Given the description of an element on the screen output the (x, y) to click on. 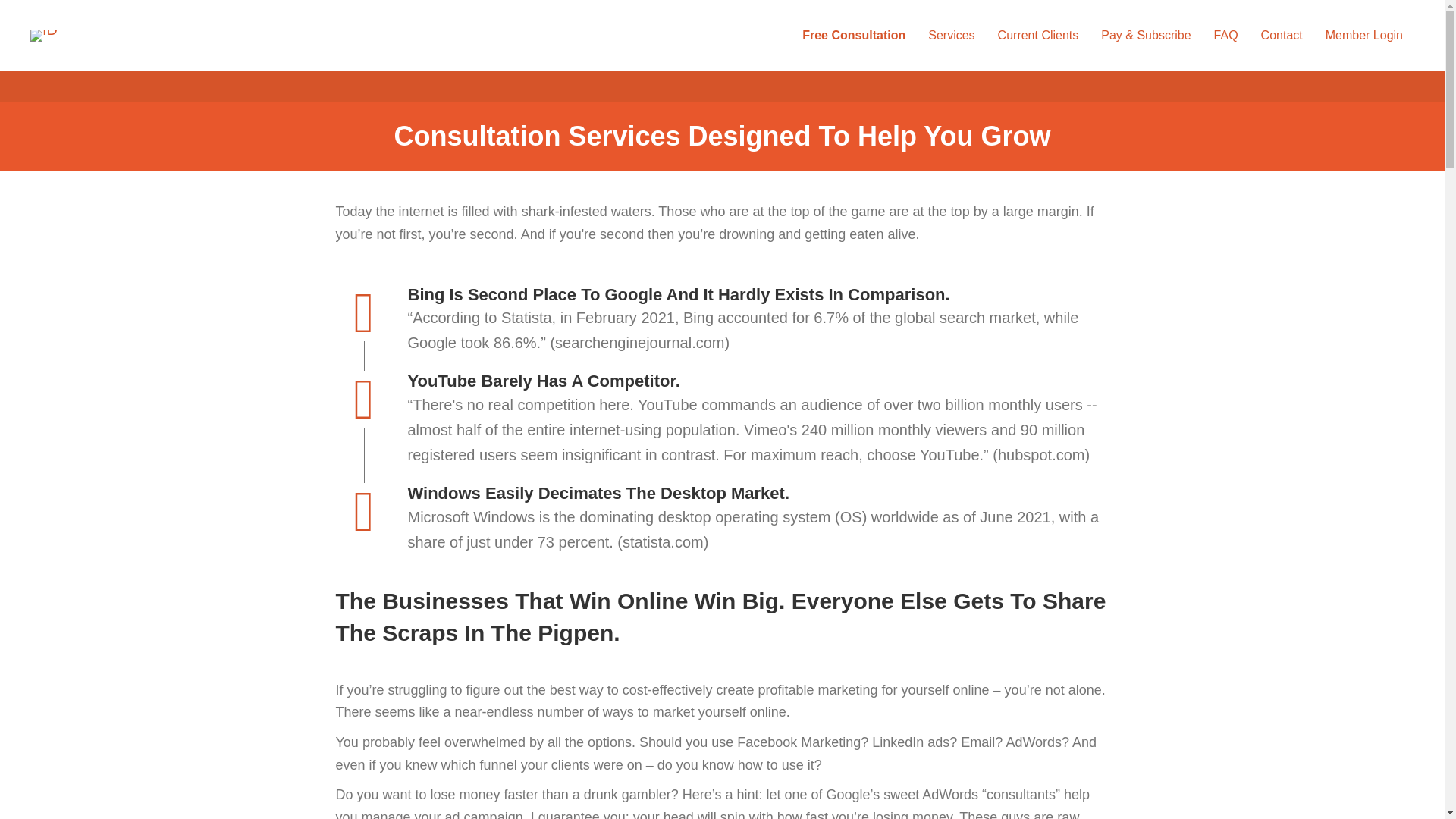
Contact (1281, 35)
Services (950, 35)
FAQ (1226, 35)
Current Clients (1038, 35)
Member Login (1363, 35)
Free Consultation (853, 35)
ID (44, 35)
